Given the description of an element on the screen output the (x, y) to click on. 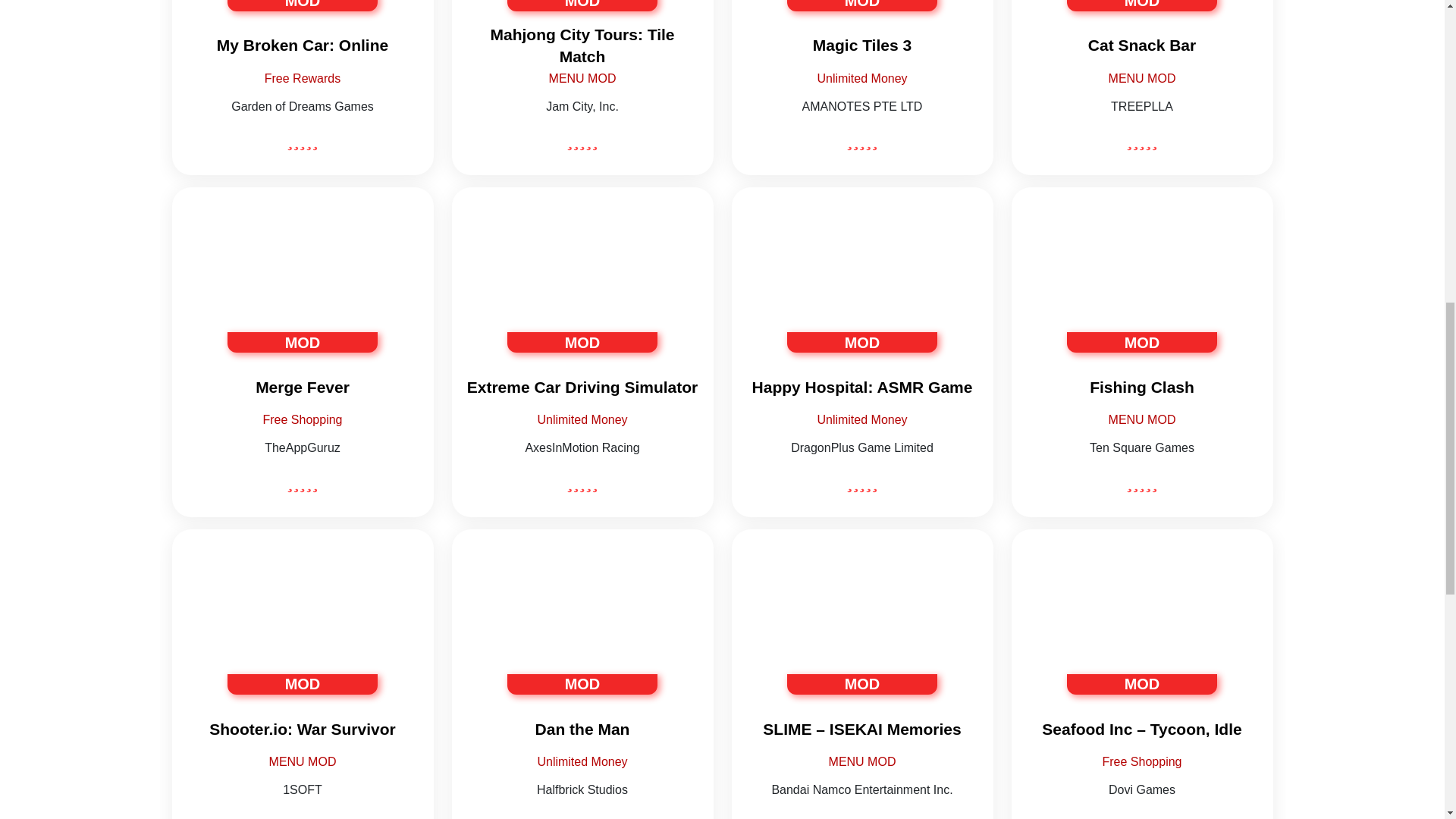
Extreme Car Driving Simulator (582, 298)
Magic Tiles 3 (860, 45)
Shooter.io: War Survivor (301, 619)
Happy Hospital: ASMR Game (860, 298)
Fishing Clash (1141, 278)
My Broken Car: Online (301, 45)
Dan the Man (582, 619)
Merge Fever (301, 386)
Cat Snack Bar (1141, 45)
